Given the description of an element on the screen output the (x, y) to click on. 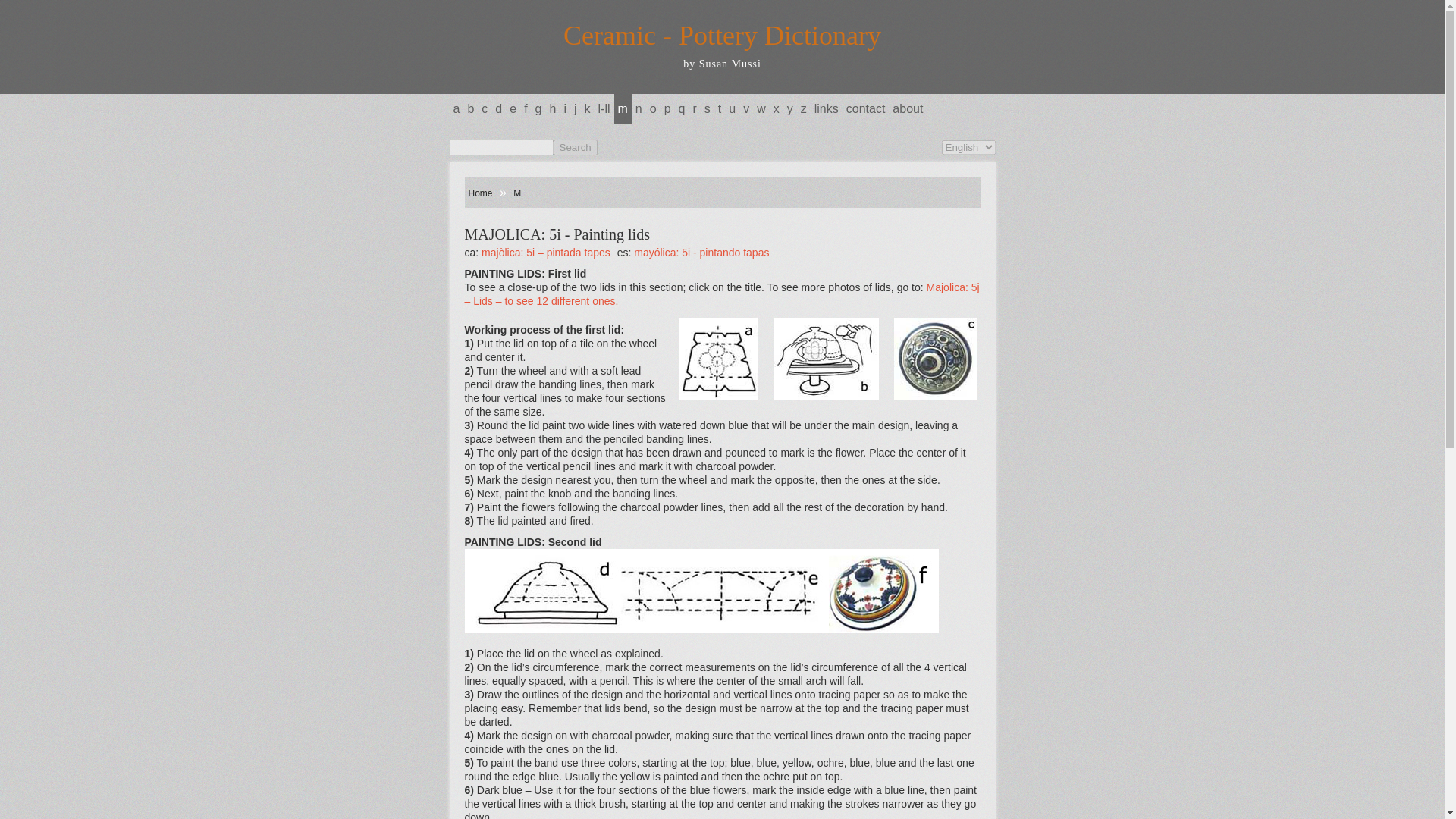
Home (480, 193)
Search (574, 147)
contact (866, 109)
about (907, 109)
Ceramic - Pottery Dictionary (721, 35)
M (516, 193)
Search (574, 147)
Majolica:5j - Twelve photos of painted lids  (721, 294)
links (826, 109)
